Given the description of an element on the screen output the (x, y) to click on. 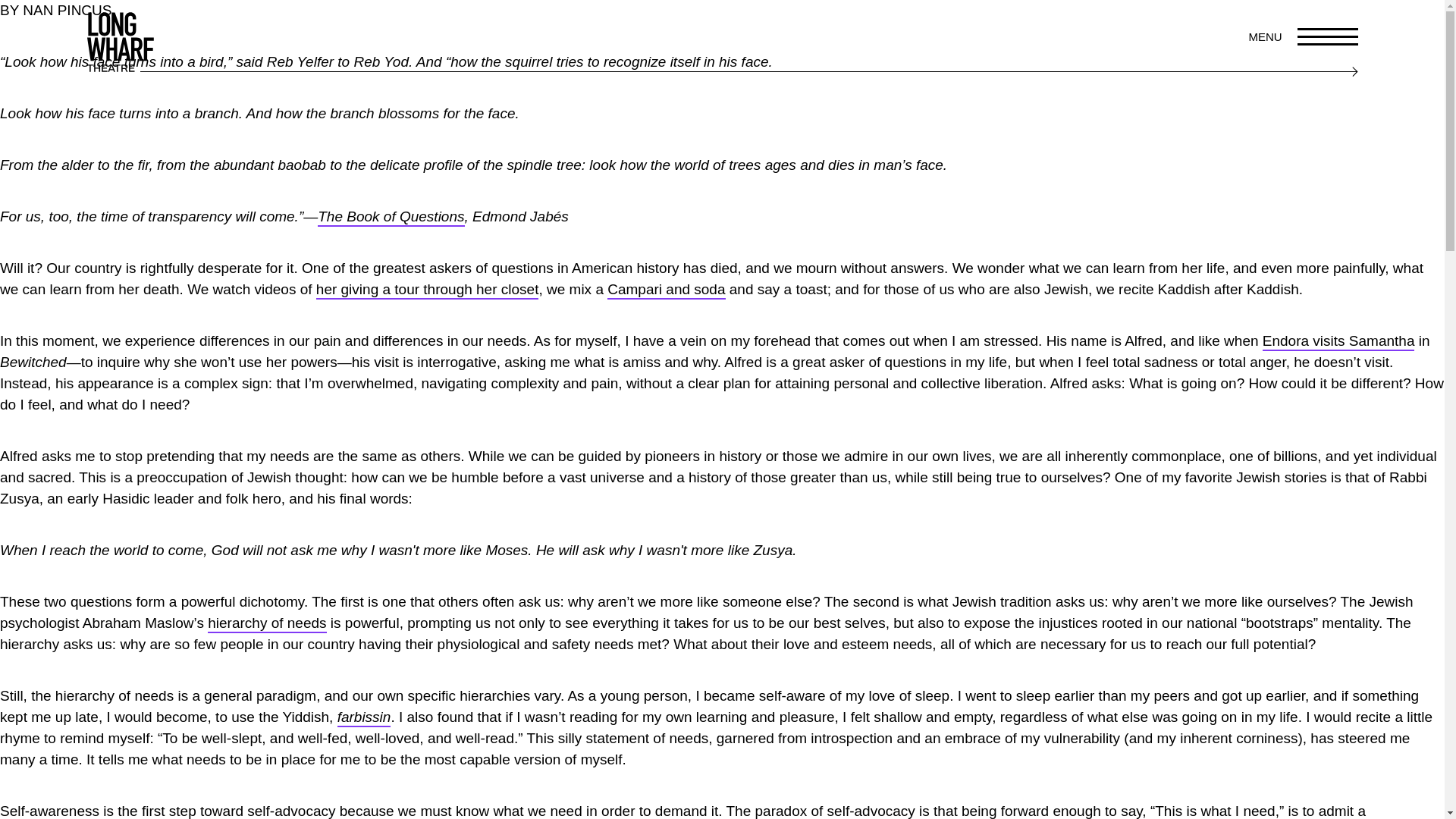
Endora visits Samantha (1338, 341)
Campari and soda (666, 290)
her giving a tour through her closet (426, 290)
MENU (1305, 35)
farbissin (364, 718)
hierarchy of needs (267, 624)
The Book of Questions (390, 217)
